Given the description of an element on the screen output the (x, y) to click on. 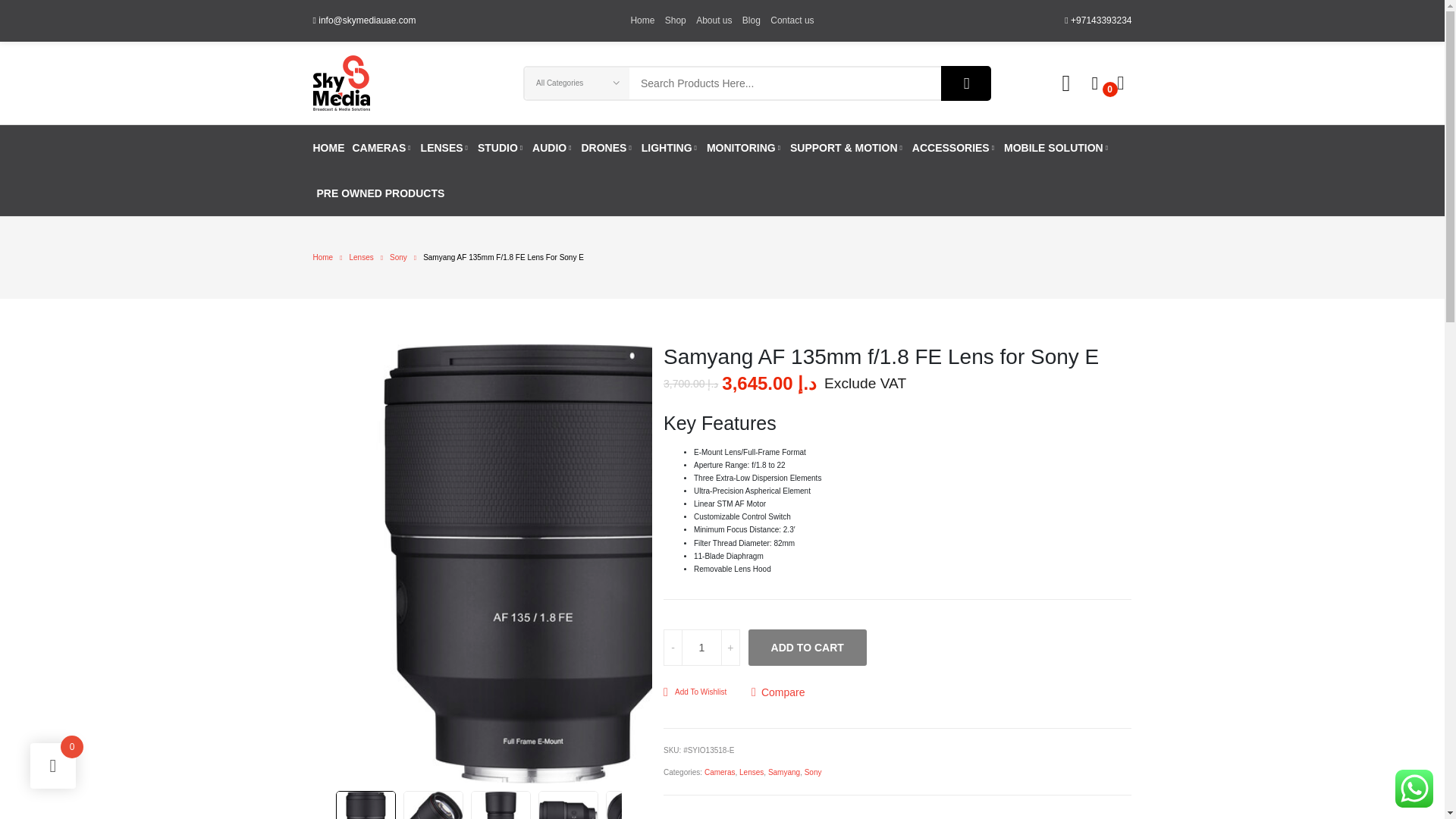
Contact us (791, 20)
1 (701, 647)
Shop (675, 20)
Blog (751, 20)
CAMERAS (382, 147)
0 (1095, 83)
About us (713, 20)
Home (641, 20)
LENSES (445, 147)
HOME (328, 147)
- (672, 647)
